Given the description of an element on the screen output the (x, y) to click on. 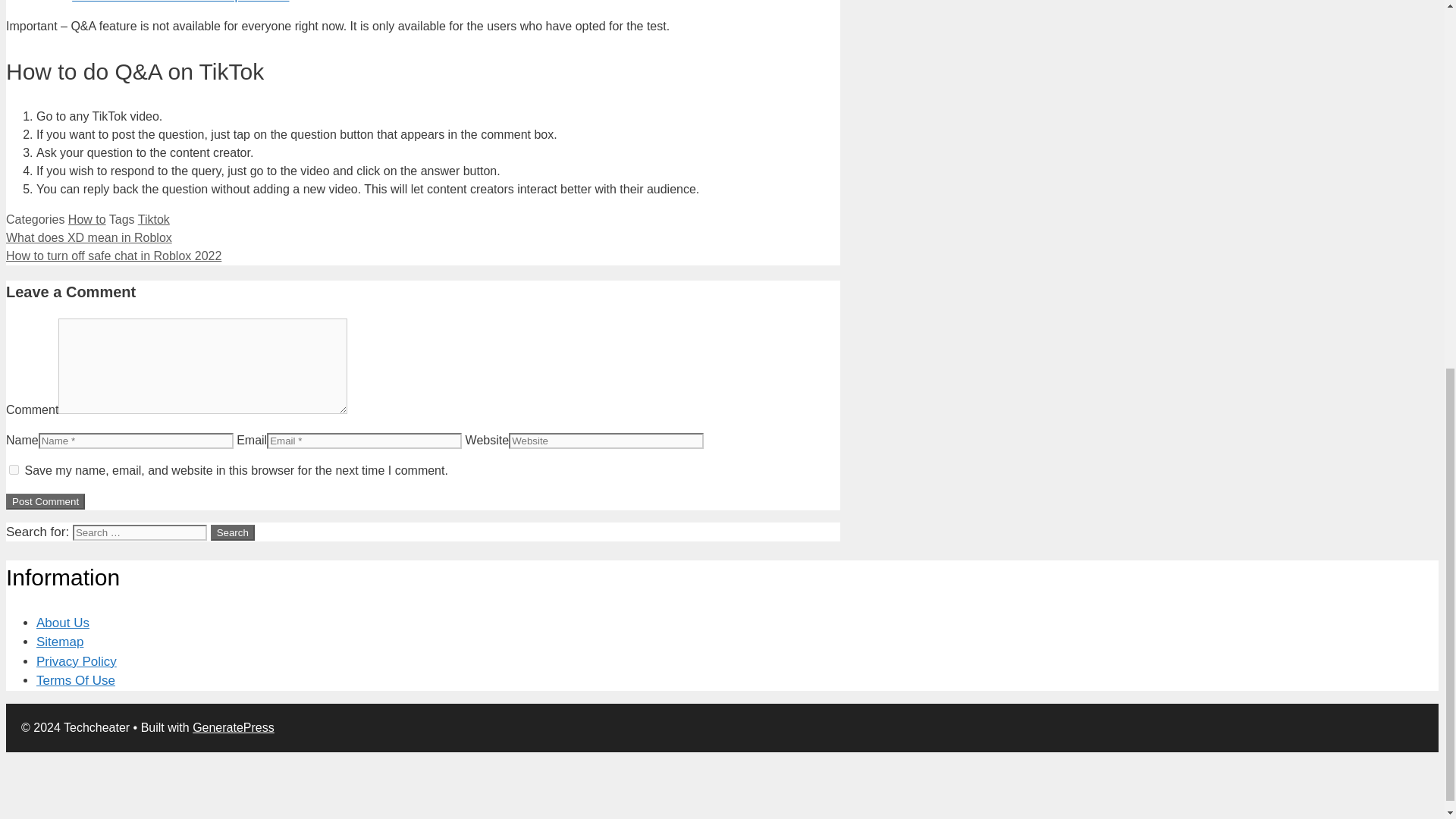
Terms Of Use (75, 680)
How to make TikTok with multiple videos (179, 1)
Search (232, 532)
Tiktok (154, 219)
What does XD mean in Roblox (88, 237)
How to turn off safe chat in Roblox 2022 (113, 255)
About Us (62, 622)
Privacy Policy (76, 661)
How to (87, 219)
Search (232, 532)
